Given the description of an element on the screen output the (x, y) to click on. 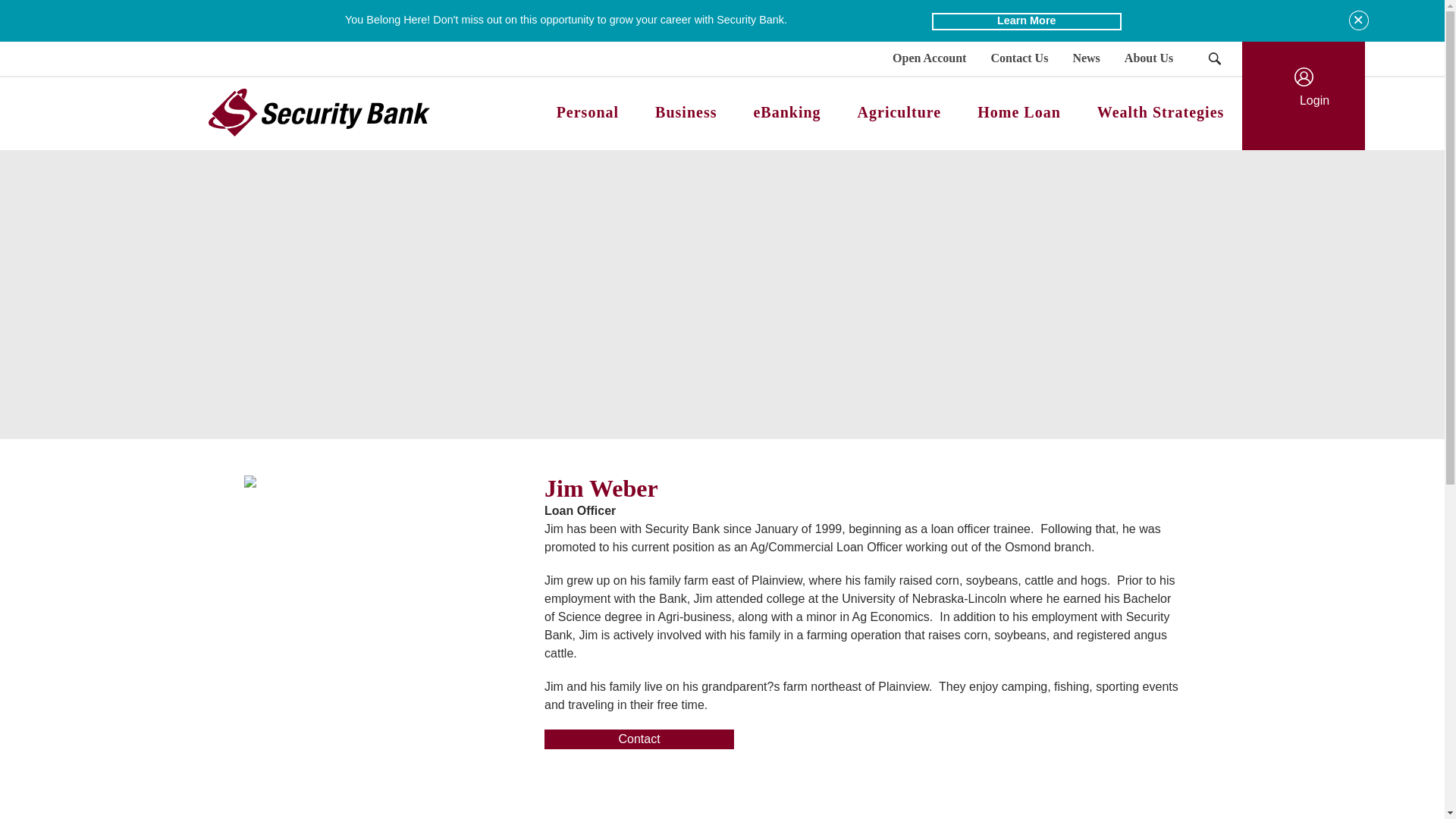
Contact Us (1018, 58)
Search (1213, 58)
Business (686, 113)
My Security Bank. Link to homepage (315, 112)
News (1085, 58)
close (1358, 20)
eBanking (786, 113)
Open Account (929, 58)
About Us (1148, 58)
Learn More (1026, 21)
